Given the description of an element on the screen output the (x, y) to click on. 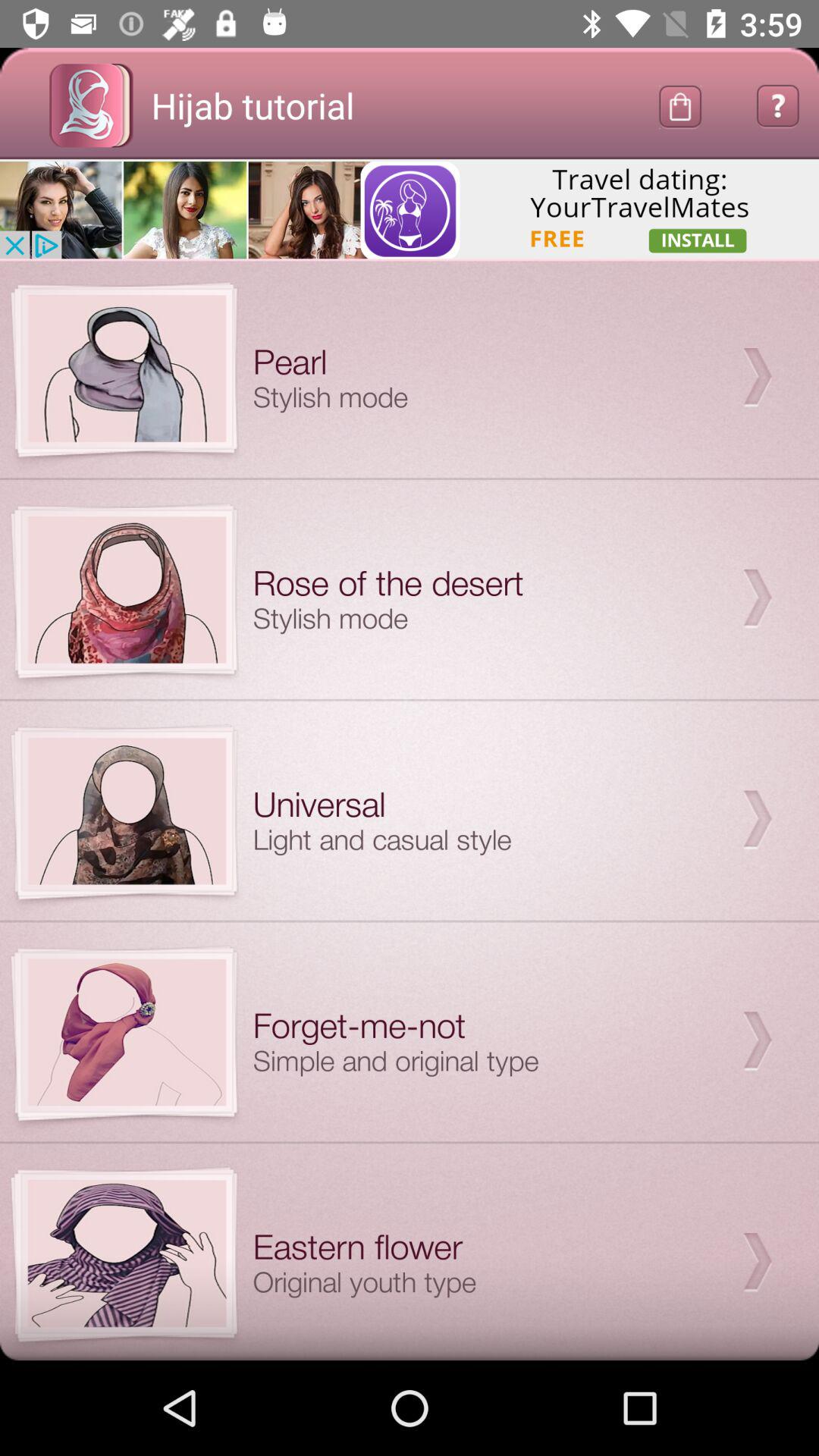
click on the symbol whcih right hand side of the text pearl (757, 377)
